Given the description of an element on the screen output the (x, y) to click on. 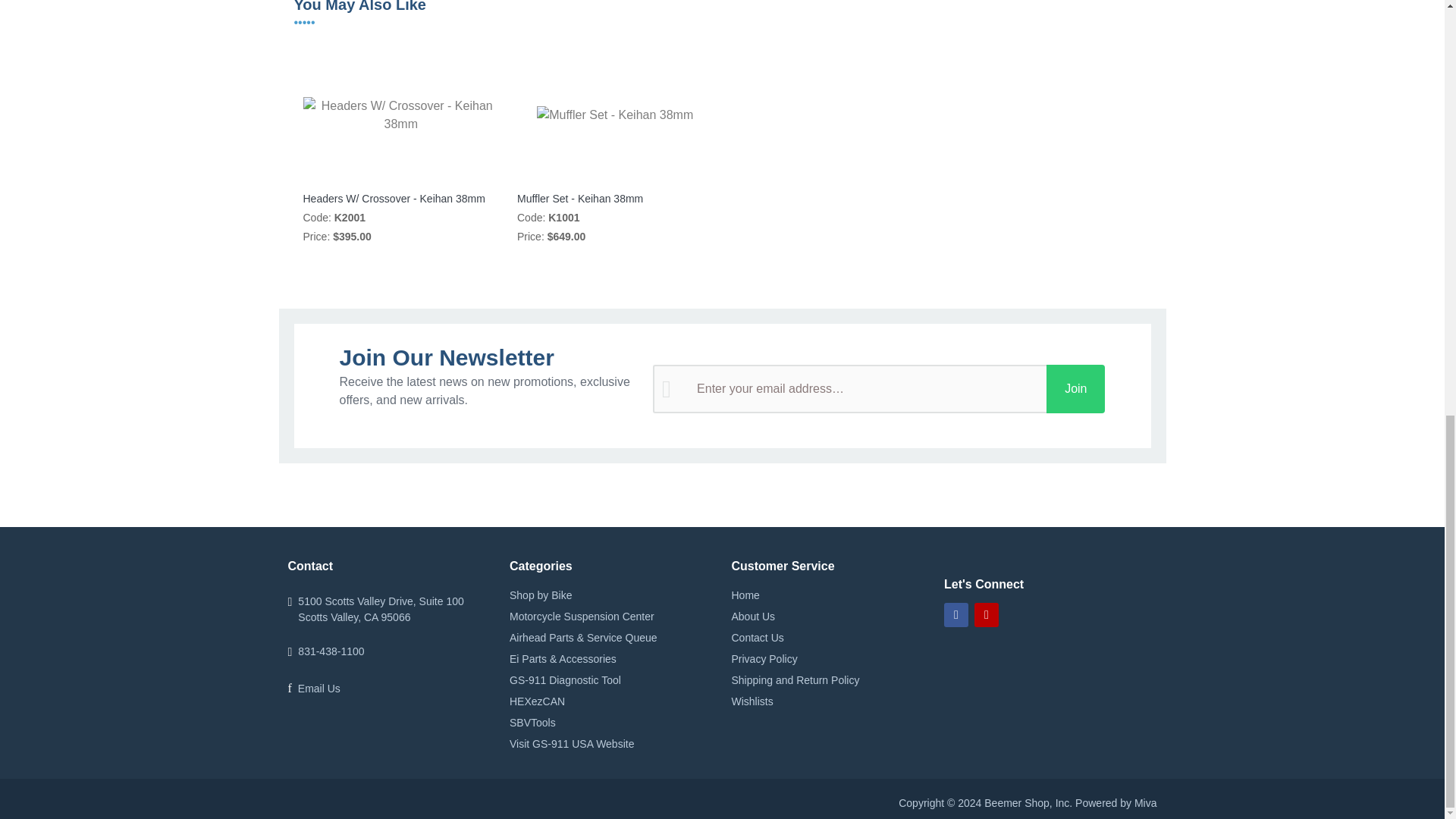
Facebook (955, 614)
